Given the description of an element on the screen output the (x, y) to click on. 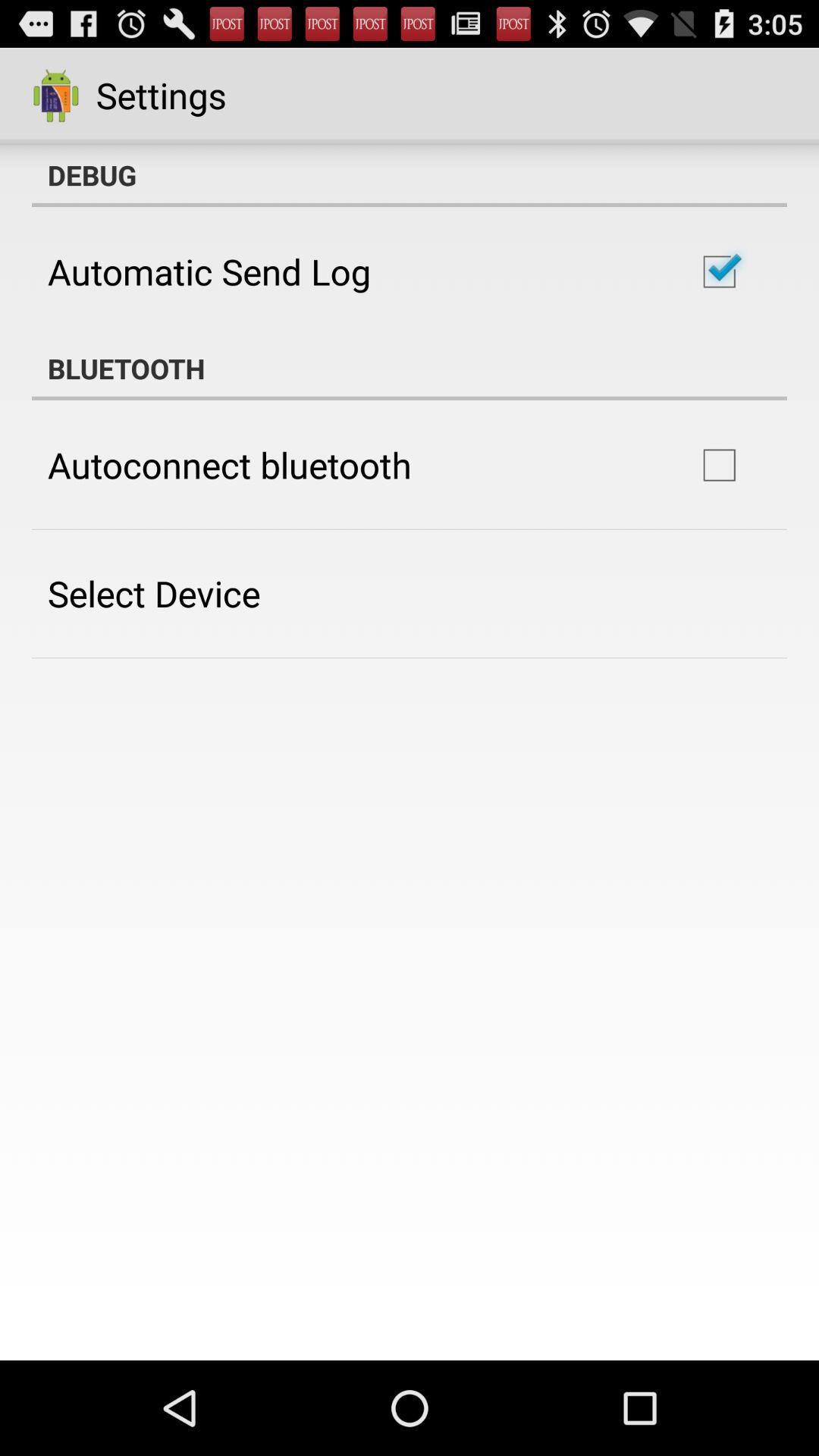
open item above bluetooth icon (208, 271)
